Given the description of an element on the screen output the (x, y) to click on. 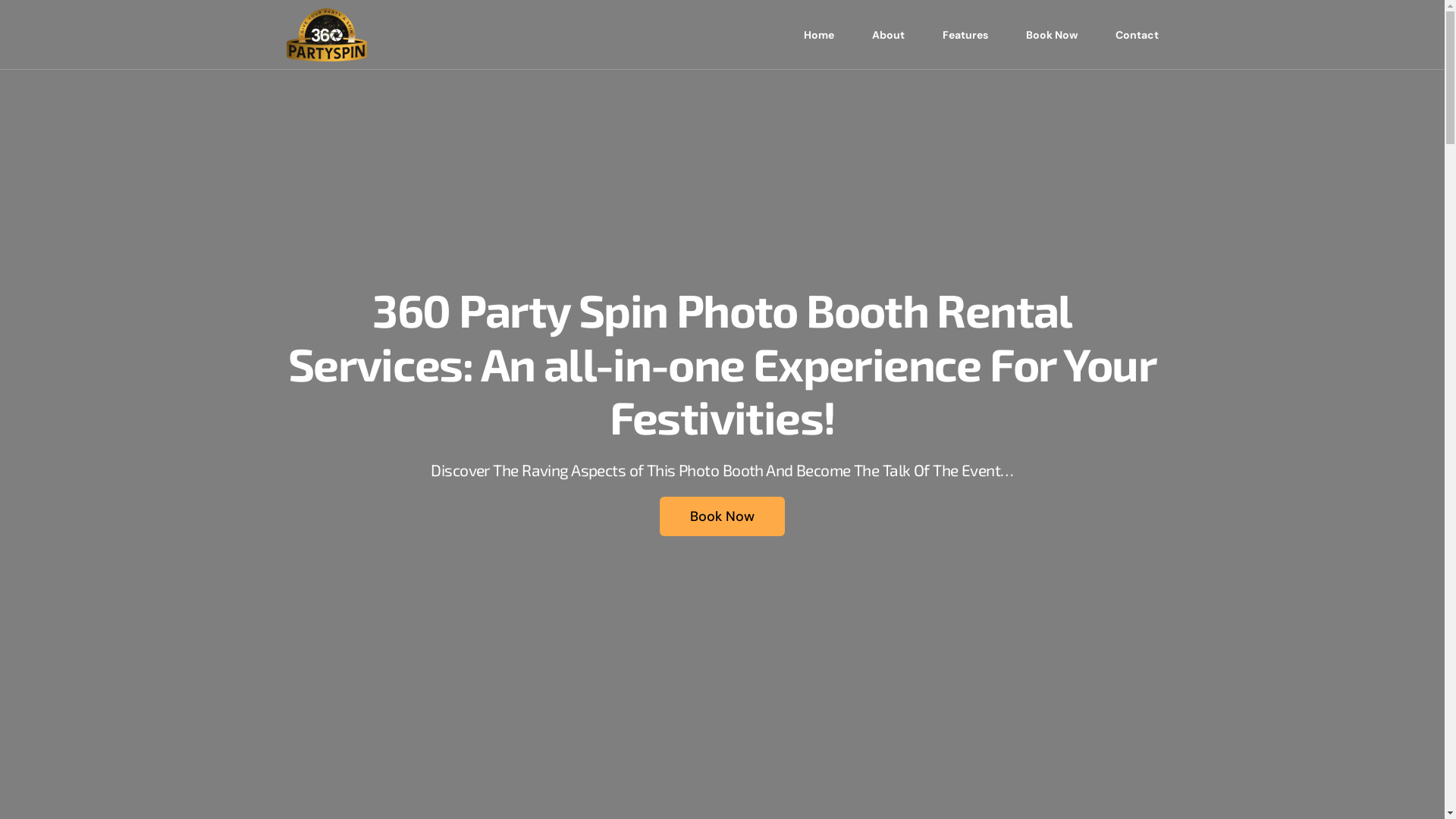
Contact Element type: text (1127, 34)
Book Now Element type: text (721, 516)
Features Element type: text (965, 34)
Book Now Element type: text (1051, 34)
About Element type: text (887, 34)
Home Element type: text (818, 34)
